Given the description of an element on the screen output the (x, y) to click on. 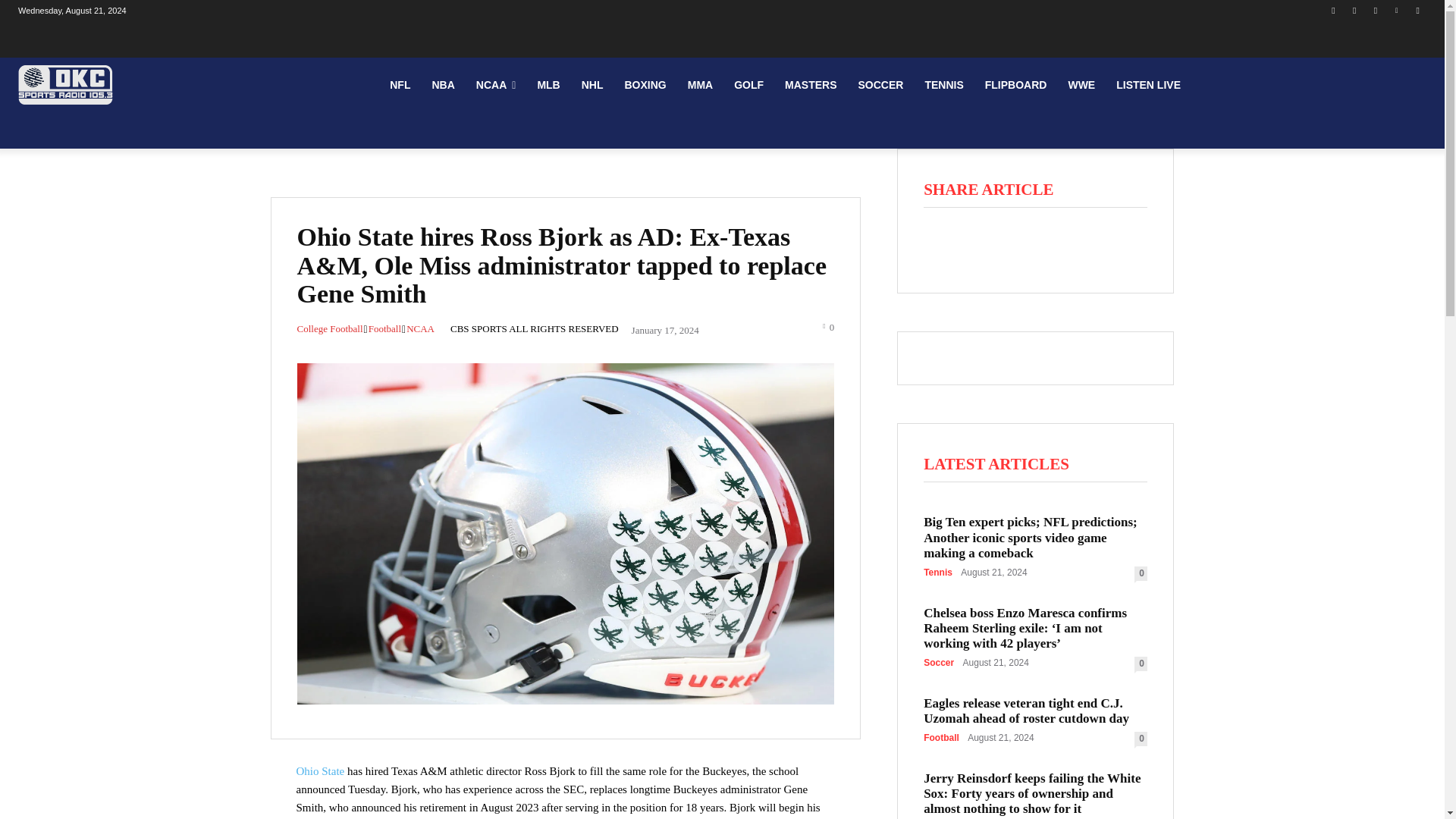
BOXING (645, 84)
Youtube (1417, 9)
Twitter (1375, 9)
Instagram (1353, 9)
NBA (442, 84)
MASTERS (810, 84)
Vimeo (1396, 9)
Facebook (1333, 9)
MLB (547, 84)
NFL (399, 84)
